Given the description of an element on the screen output the (x, y) to click on. 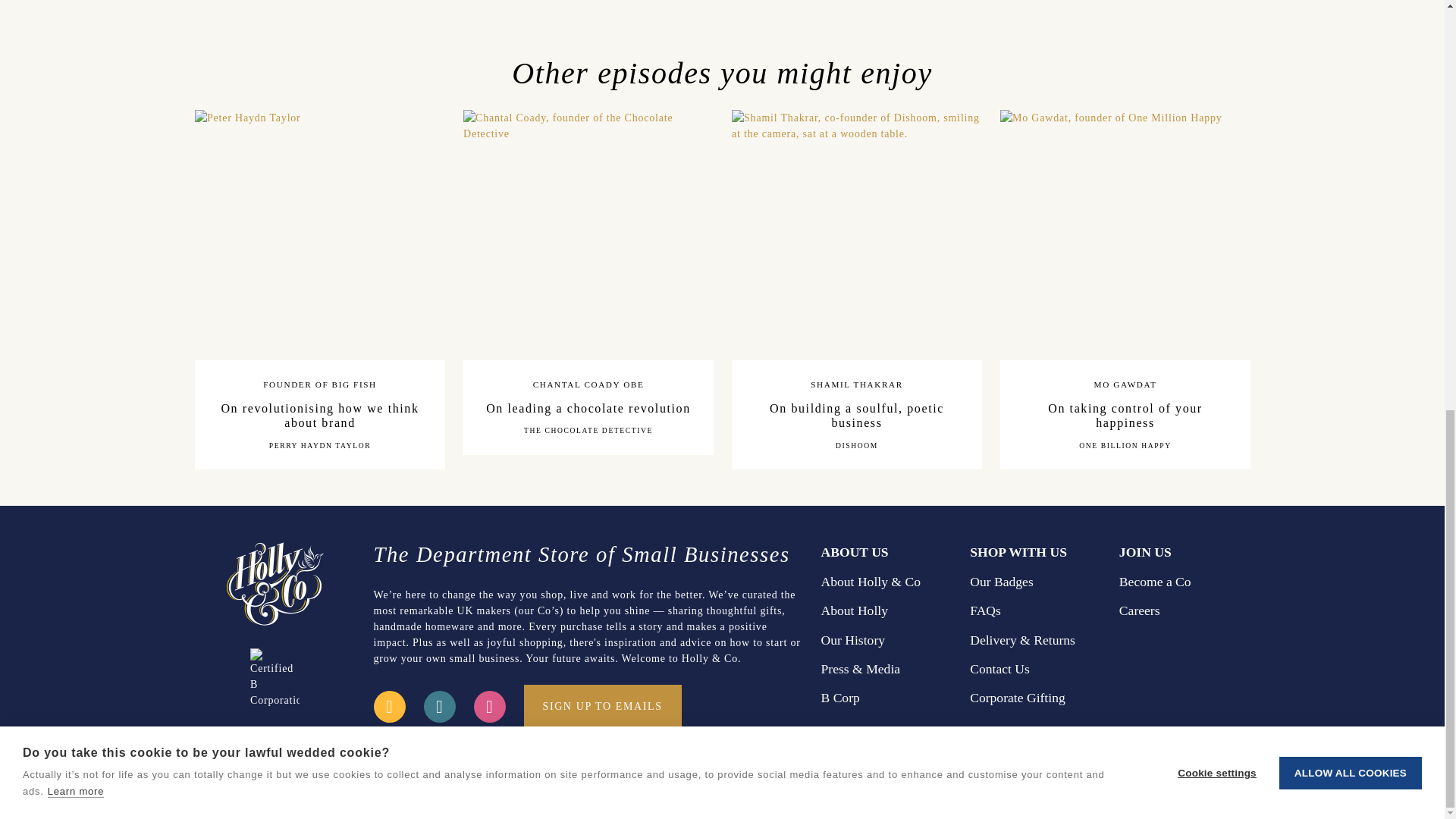
Audioboom player (1184, 595)
